Given the description of an element on the screen output the (x, y) to click on. 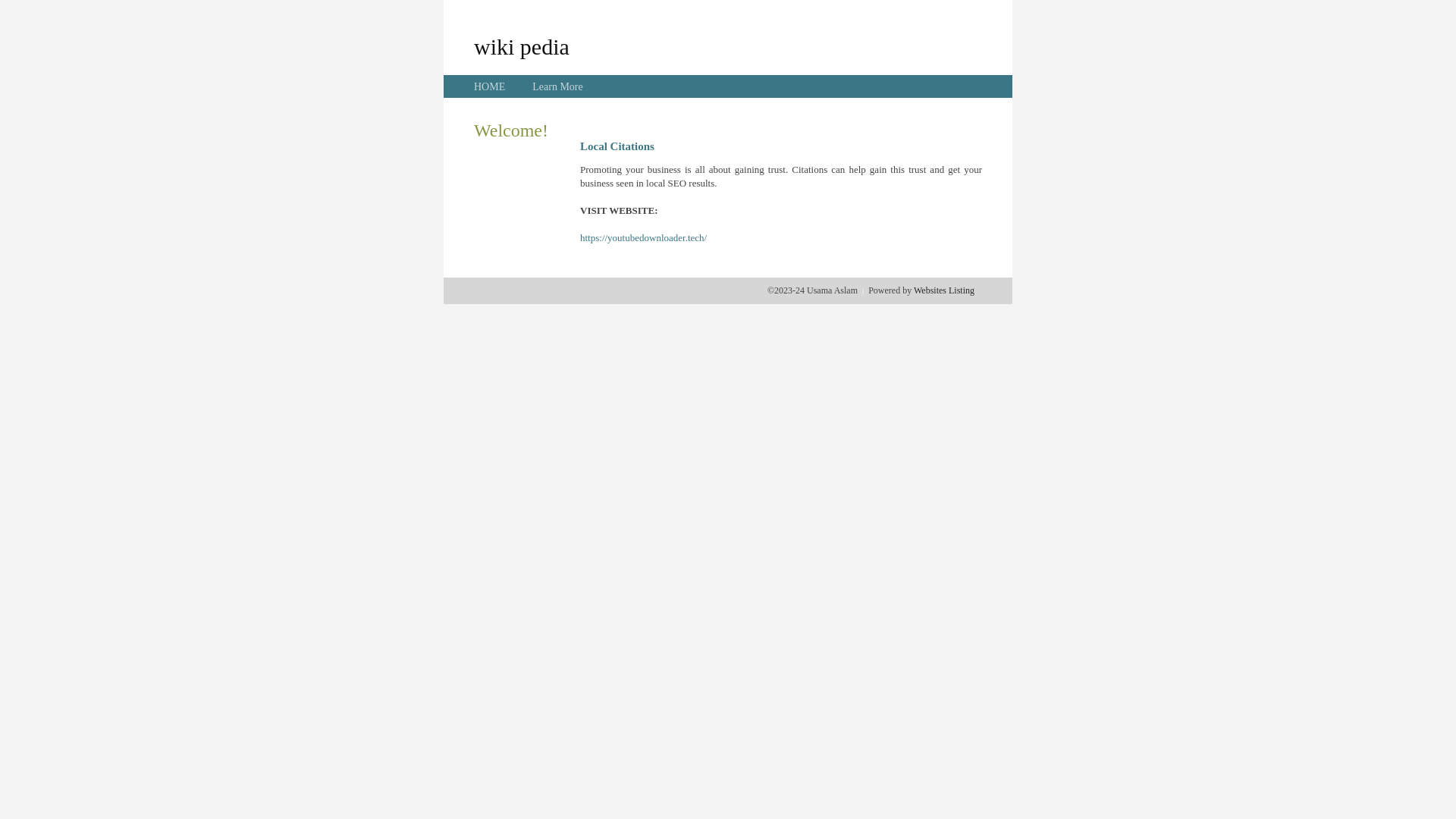
Websites Listing Element type: text (943, 290)
wiki pedia Element type: text (521, 46)
https://youtubedownloader.tech/ Element type: text (643, 237)
Learn More Element type: text (557, 86)
HOME Element type: text (489, 86)
